Given the description of an element on the screen output the (x, y) to click on. 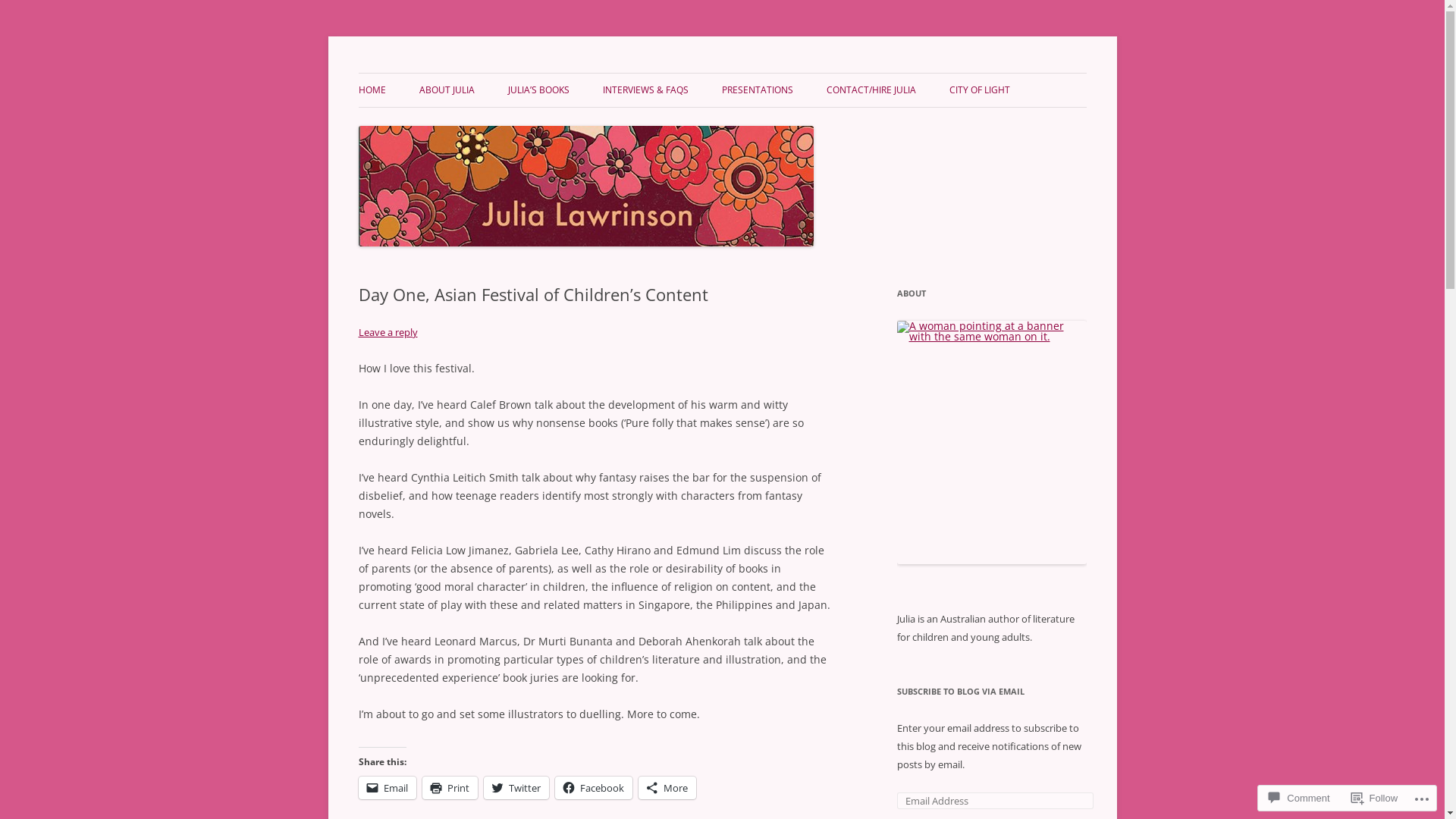
Skip to content Element type: text (721, 72)
ABOUT JULIA Element type: text (445, 89)
Leave a reply Element type: text (387, 331)
HOME Element type: text (371, 89)
Twitter Element type: text (516, 787)
More Element type: text (667, 787)
PRESENTATIONS Element type: text (757, 89)
Follow Element type: text (1374, 797)
CITY OF LIGHT Element type: text (979, 89)
Print Element type: text (448, 787)
FOR TEENAGERS Element type: text (583, 122)
About Element type: hover (990, 442)
Julia Lawrinson Element type: text (433, 72)
Comment Element type: text (1298, 797)
CONTACT/HIRE JULIA Element type: text (871, 89)
Facebook Element type: text (593, 787)
INTERVIEWS & FAQS Element type: text (644, 89)
Email Element type: text (386, 787)
